Given the description of an element on the screen output the (x, y) to click on. 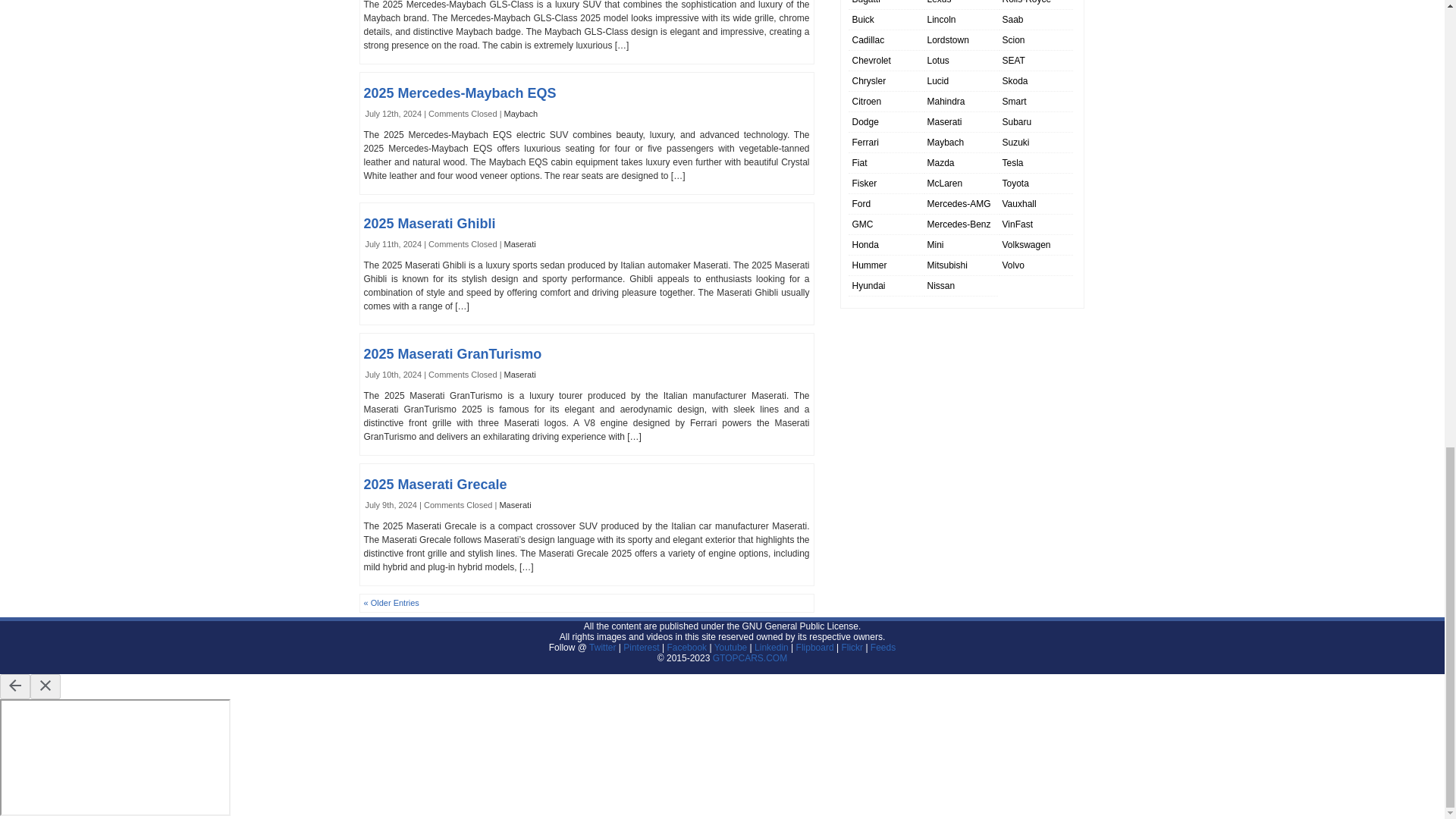
Cadillac (868, 40)
Maserati (519, 374)
Maybach (520, 112)
2025 Mercedes-Maybach EQS (460, 92)
2025 Maserati Grecale (435, 484)
Maserati (519, 243)
2025 Maserati GranTurismo (452, 353)
Bugatti (865, 2)
Chrysler (868, 81)
2025 Mercedes-Maybach EQS (460, 92)
2025 Maserati Grecale (435, 484)
Citroen (866, 101)
2025 Maserati GranTurismo (452, 353)
2025 Maserati Ghibli (430, 223)
Maserati (515, 504)
